Given the description of an element on the screen output the (x, y) to click on. 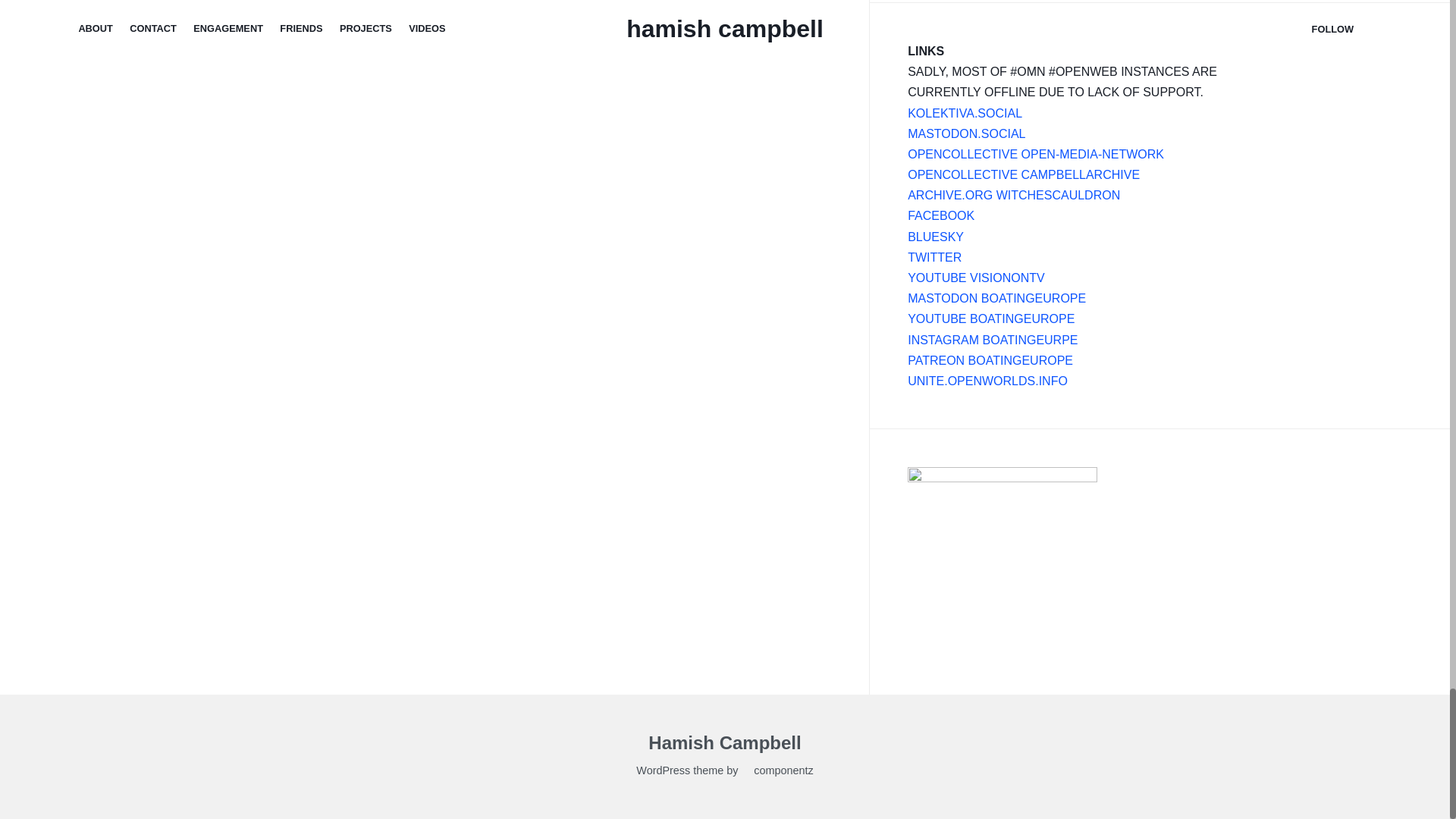
WordPress (663, 772)
Hamish Campbell (723, 745)
componentz (776, 772)
